Given the description of an element on the screen output the (x, y) to click on. 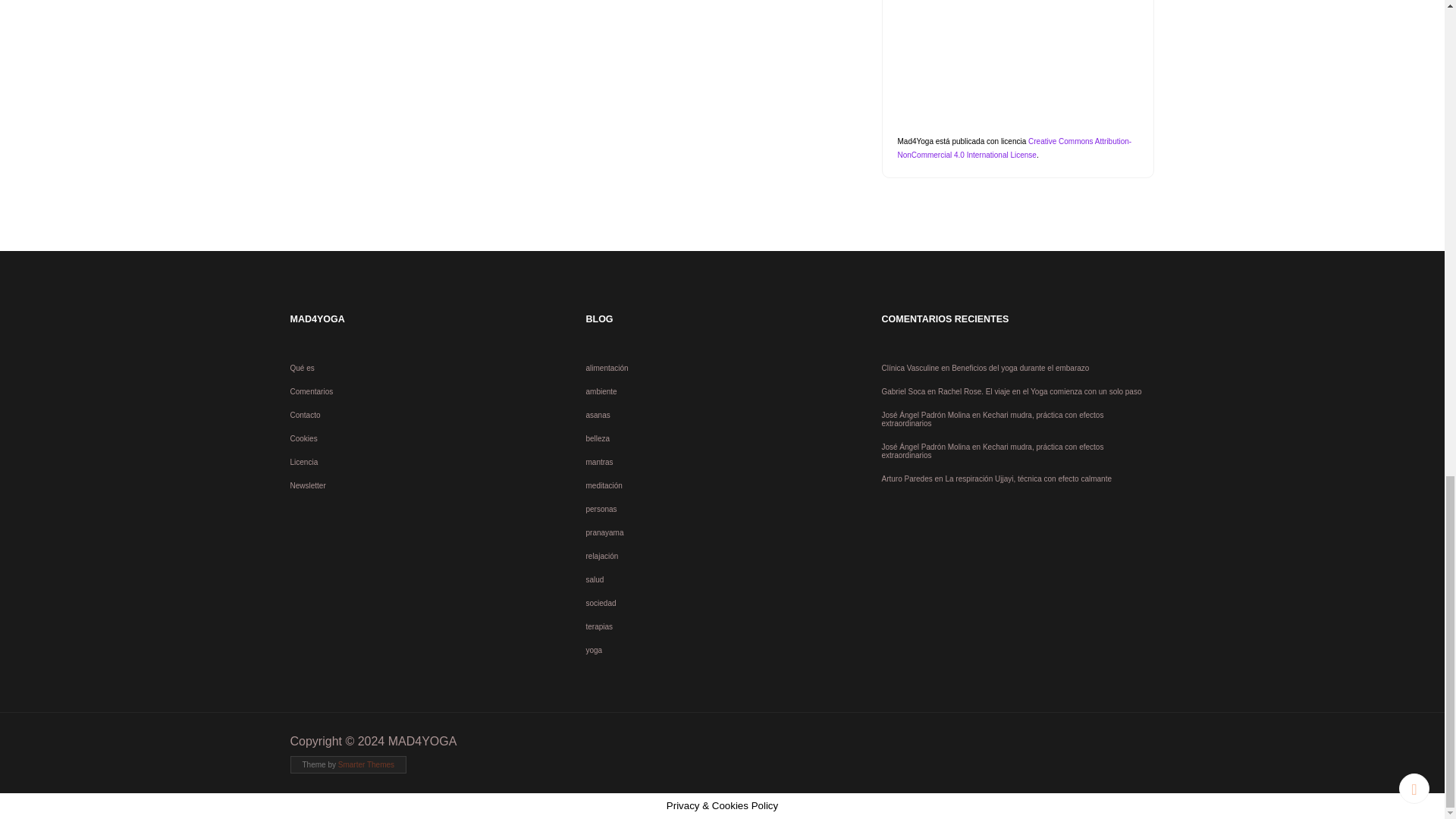
Contacto (304, 415)
belleza (597, 438)
Licencia (303, 461)
ambiente (600, 391)
mantras (598, 461)
Comentarios (311, 391)
Newsletter (306, 485)
Cookies (303, 438)
asanas (597, 415)
